Given the description of an element on the screen output the (x, y) to click on. 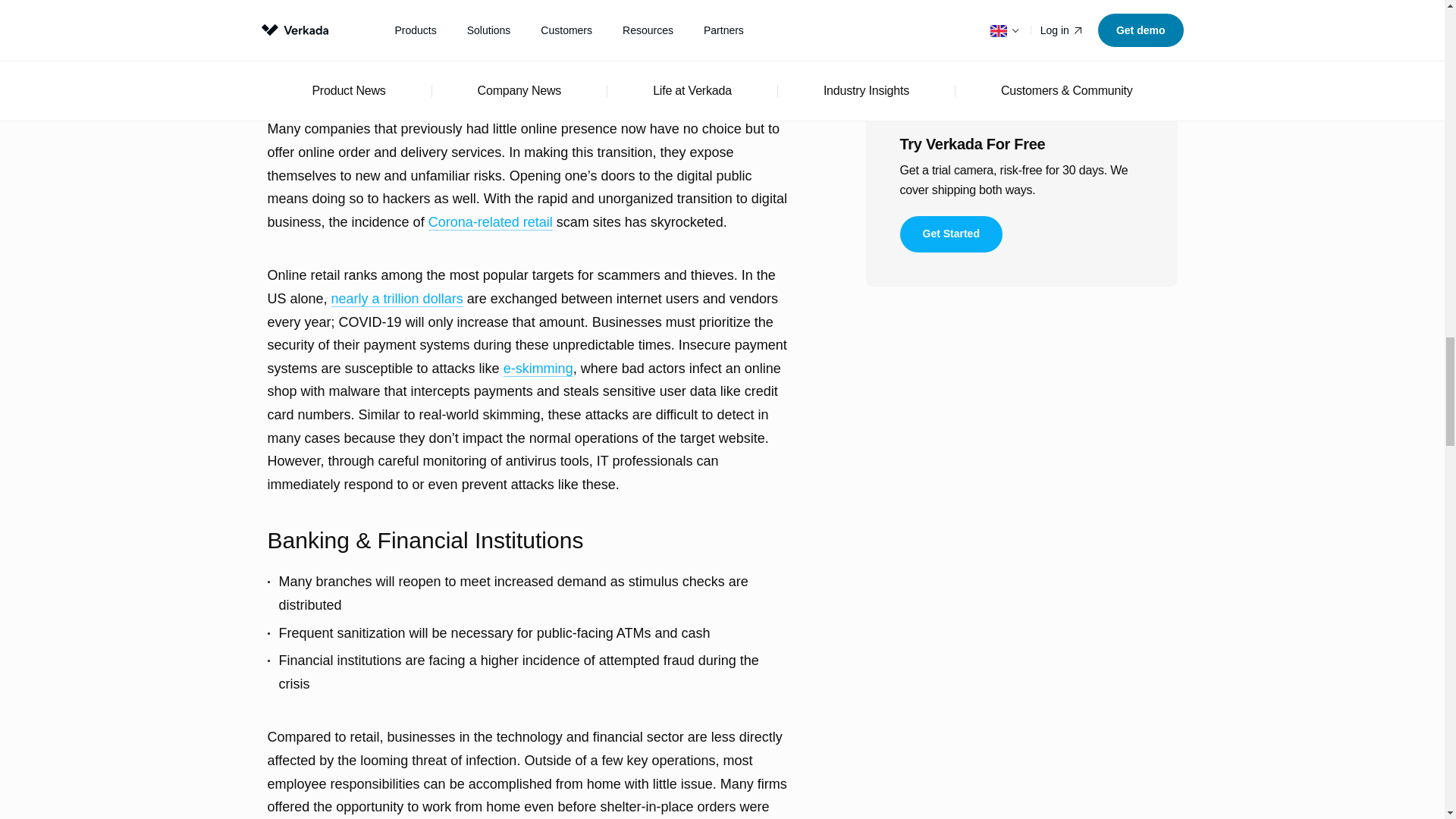
nearly a trillion dollars (397, 299)
e-skimming (538, 368)
Corona-related retail (490, 222)
